Given the description of an element on the screen output the (x, y) to click on. 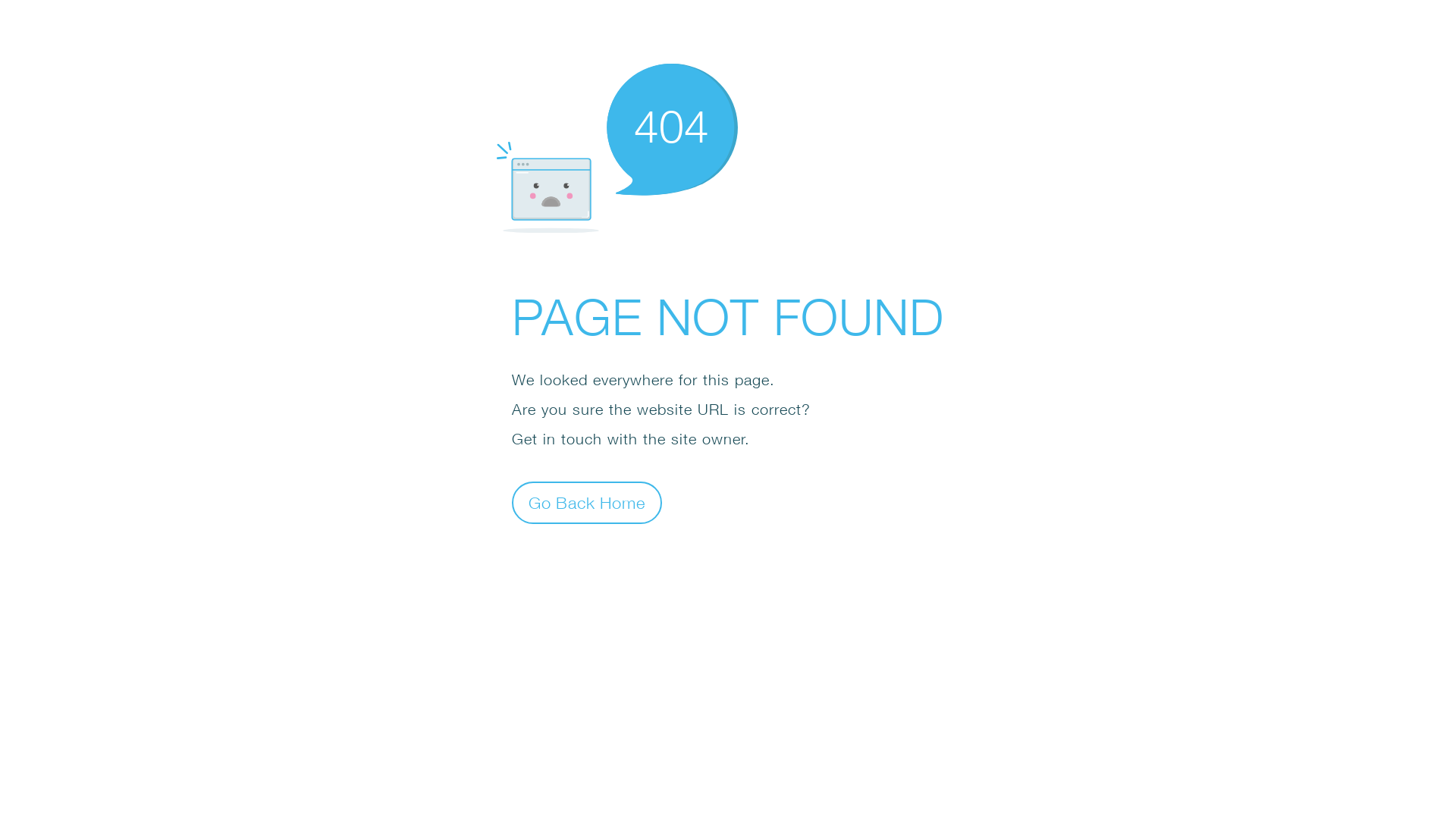
Go Back Home Element type: text (586, 502)
